Given the description of an element on the screen output the (x, y) to click on. 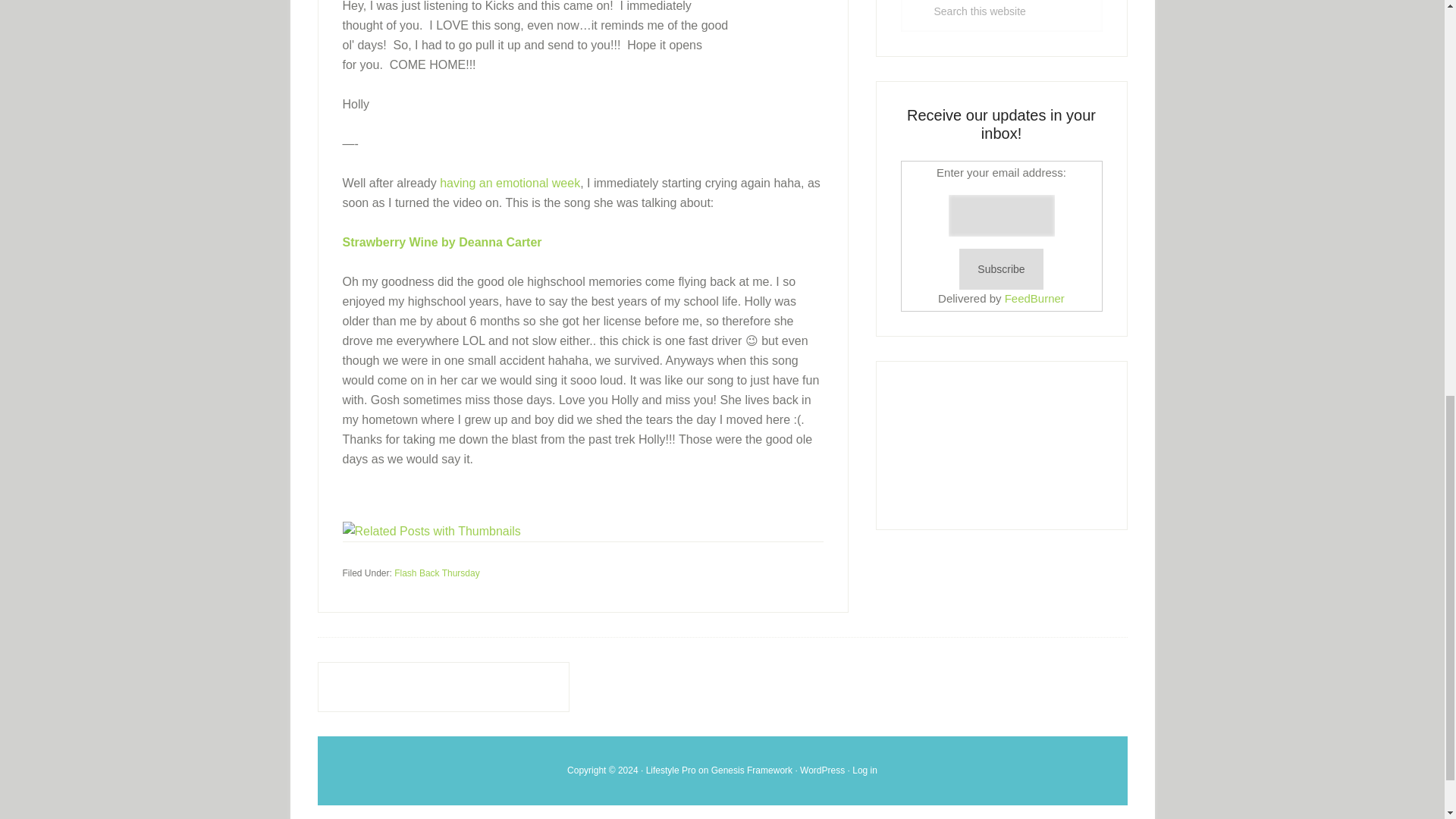
Subscribe (1000, 269)
Subscribe (1000, 269)
WordPress (821, 769)
having an emotional week (509, 182)
Strawberry Wine by Deanna Carter (441, 241)
Genesis Framework (751, 769)
Log in (864, 769)
FeedBurner (1034, 297)
Lifestyle Pro (670, 769)
Flash Back Thursday (437, 573)
